Given the description of an element on the screen output the (x, y) to click on. 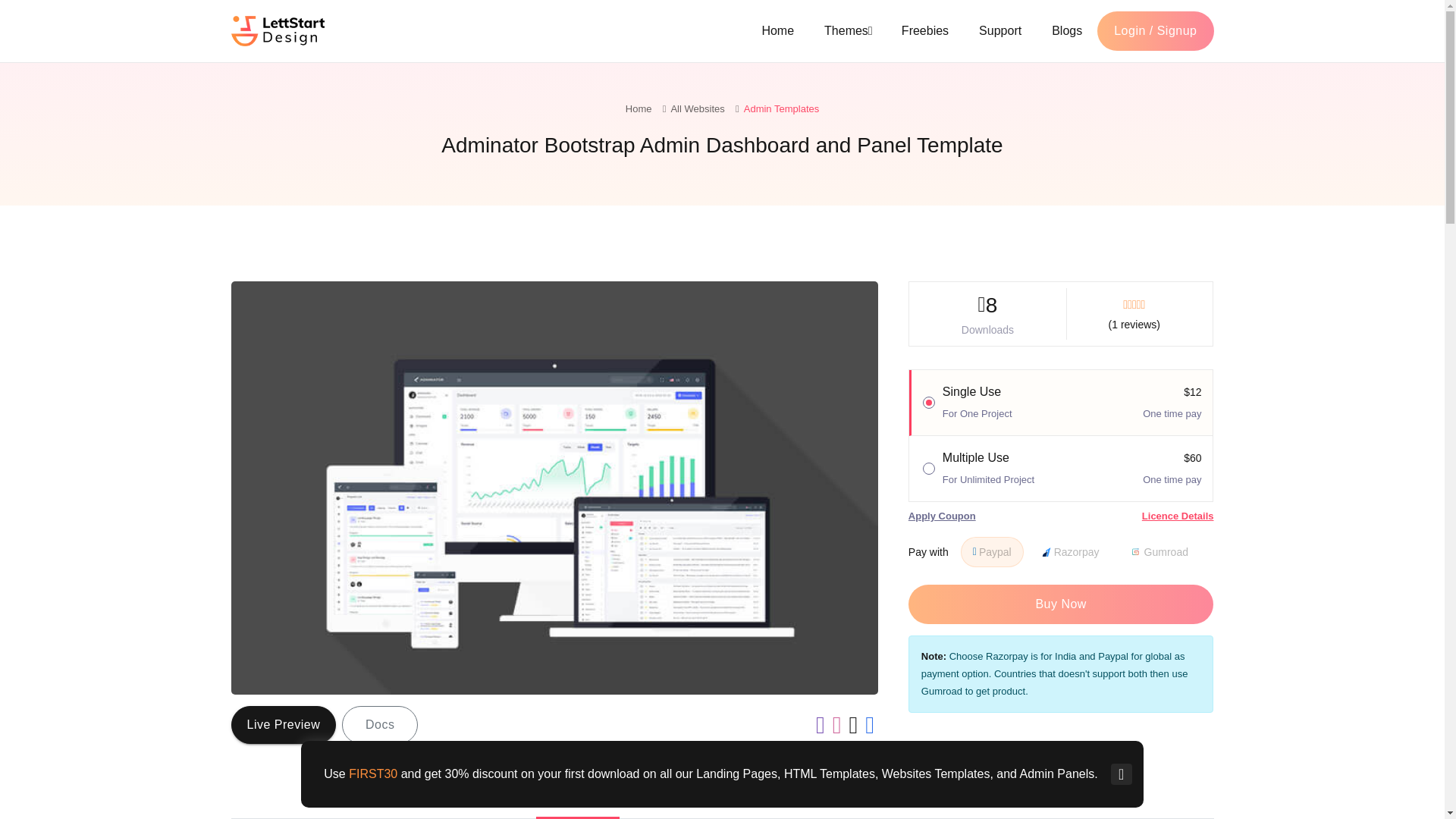
Details (577, 800)
Blogs (1066, 30)
Change Log (852, 800)
Paypal (991, 552)
Support (999, 30)
Gumroad (1135, 551)
Themes (847, 30)
home (777, 30)
All Websites (696, 108)
Reviews (748, 800)
Blogs (1066, 30)
Admin (781, 108)
Home (639, 108)
Free themes (924, 30)
Support (999, 30)
